Given the description of an element on the screen output the (x, y) to click on. 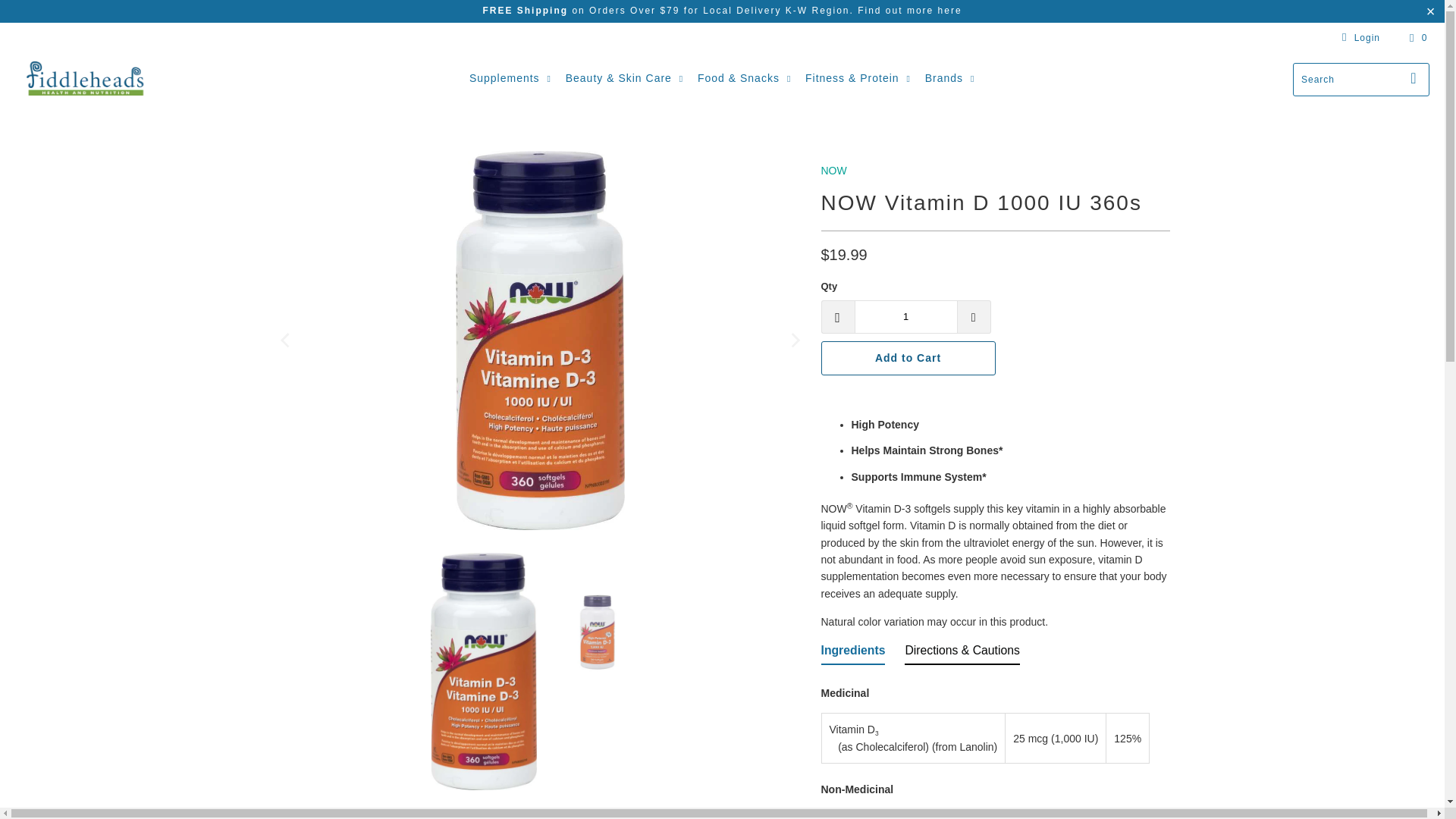
Fiddleheads Health and Nutrition (84, 78)
My Account  (1358, 37)
1 (904, 316)
